Given the description of an element on the screen output the (x, y) to click on. 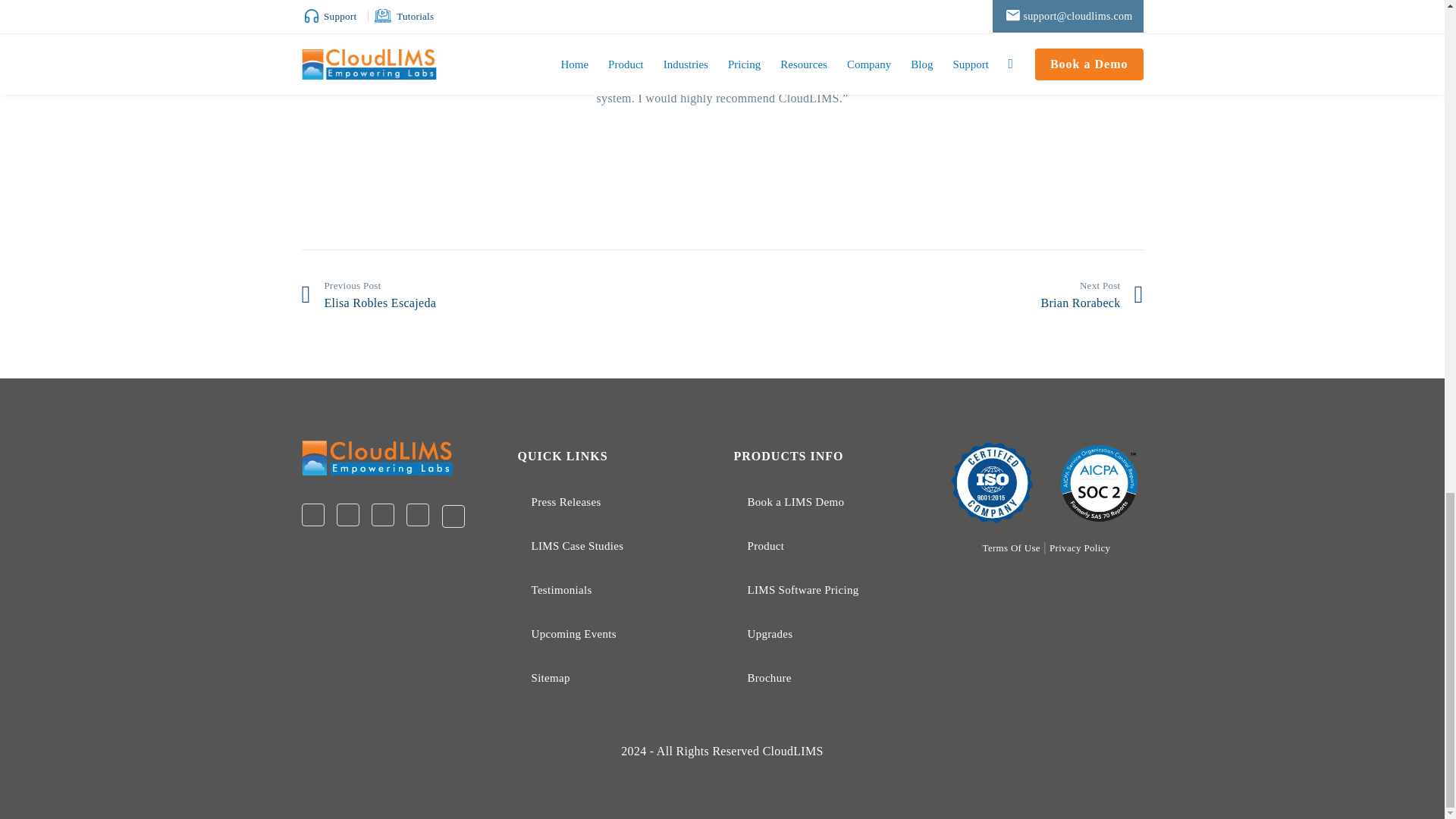
Brian Rorabeck (937, 294)
Elisa Robles Escajeda (506, 294)
cloudlims-logo (376, 457)
